Given the description of an element on the screen output the (x, y) to click on. 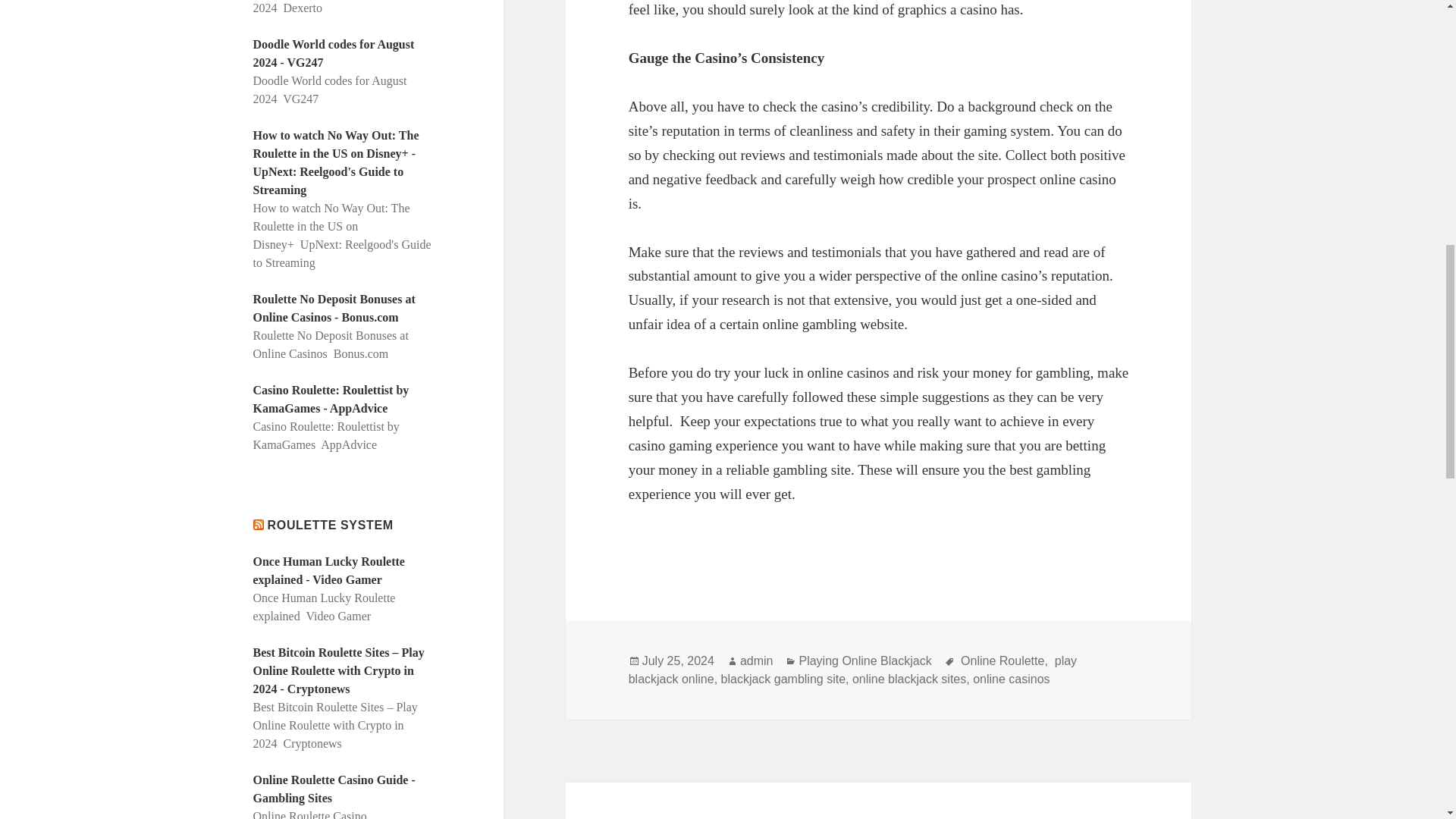
Roulette No Deposit Bonuses at Online Casinos - Bonus.com (333, 307)
Playing Online Blackjack (864, 661)
Doodle World codes for August 2024 - VG247 (333, 52)
blackjack gambling site (782, 679)
online casinos (1010, 679)
online blackjack sites (908, 679)
Once Human Lucky Roulette explained - Video Gamer (328, 570)
admin (756, 661)
Casino Roulette: Roulettist by KamaGames - AppAdvice (331, 399)
ROULETTE SYSTEM (330, 524)
Online Roulette Casino Guide - Gambling Sites (333, 788)
 play blackjack online (852, 670)
July 25, 2024 (678, 661)
 Online Roulette (1001, 661)
